Given the description of an element on the screen output the (x, y) to click on. 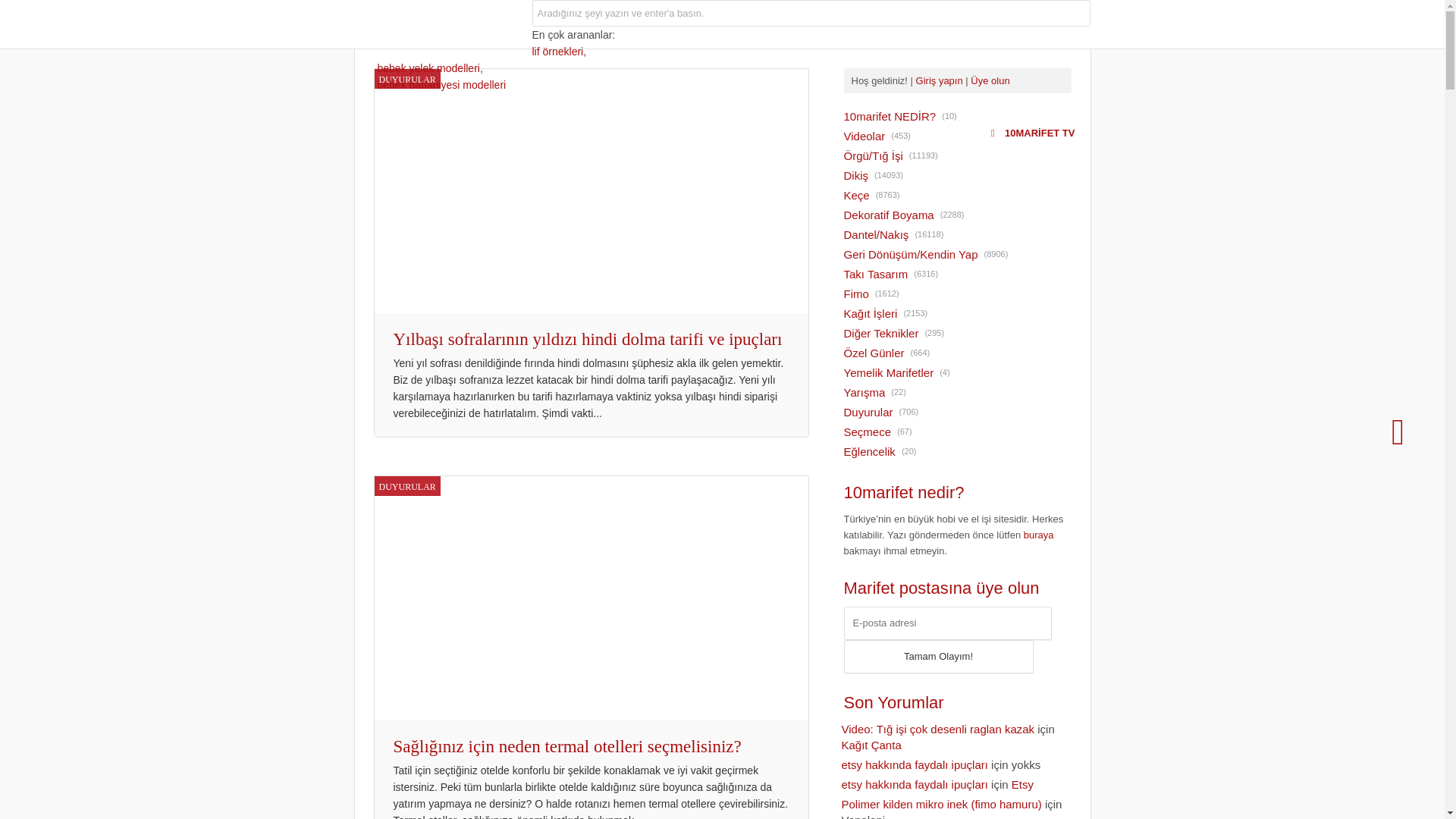
DUYURULAR Element type: text (407, 485)
Duyurular Element type: text (868, 411)
10MARIFET TV Element type: text (1032, 133)
Fimo Element type: text (856, 293)
bebek yelek modelleri, Element type: text (430, 68)
Polimer kilden mikro inek (fimo hamuru) Element type: text (941, 803)
Dekoratif Boyama Element type: text (888, 214)
Videolar Element type: text (864, 135)
DUYURULAR Element type: text (407, 78)
bebek battaniyesi modelleri Element type: text (441, 84)
buraya Element type: text (1038, 534)
Etsy Element type: text (1022, 784)
Yemelik Marifetler Element type: text (888, 372)
